Given the description of an element on the screen output the (x, y) to click on. 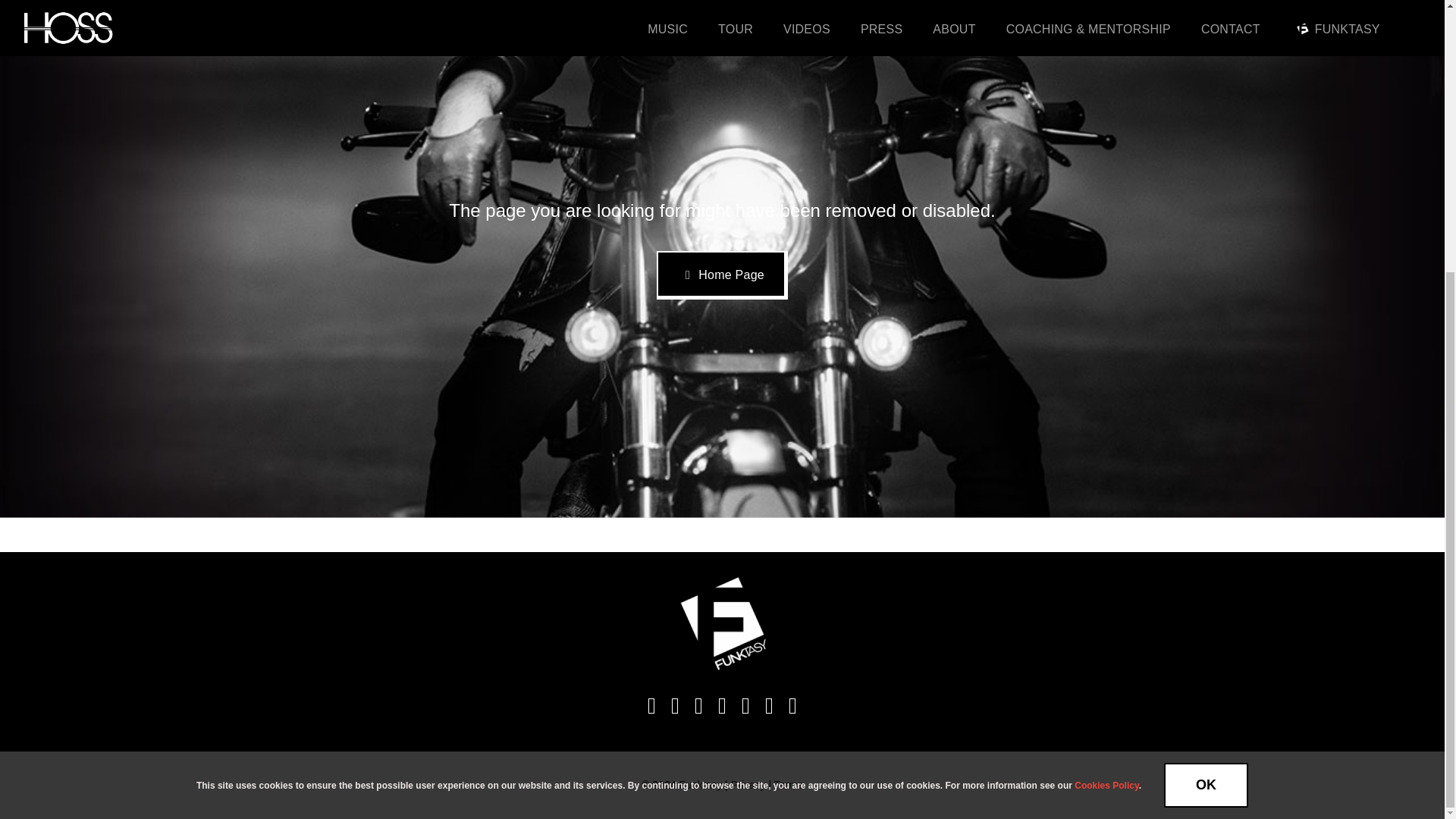
Funktasy (699, 784)
Privacy (747, 784)
Home Page (721, 274)
Terms (788, 784)
